Given the description of an element on the screen output the (x, y) to click on. 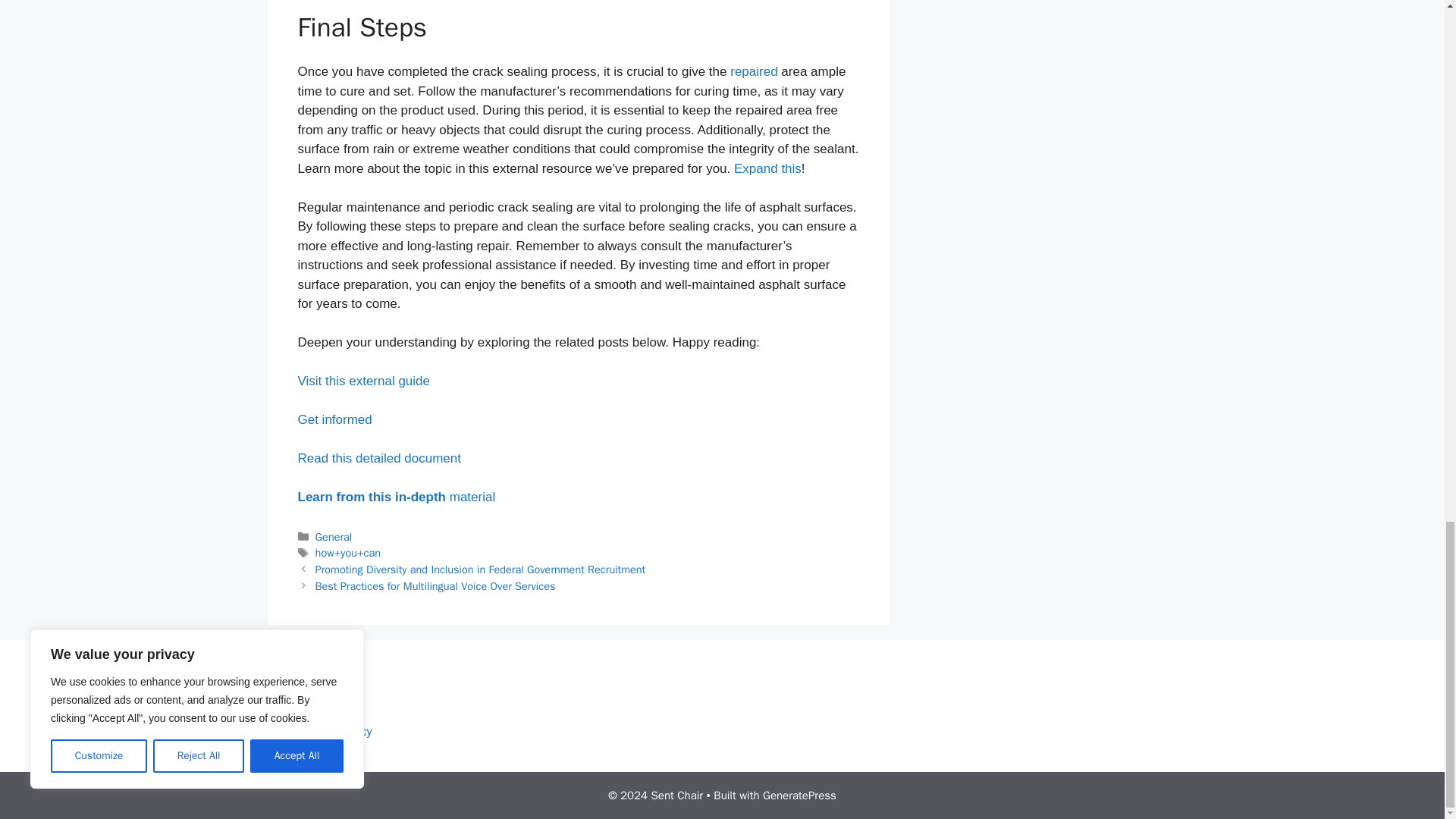
Read this detailed document (378, 458)
General (333, 536)
Visit this external guide (363, 380)
Best Practices for Multilingual Voice Over Services (435, 585)
Expand this (767, 168)
Learn from this in-depth material (396, 496)
Get informed (334, 419)
repaired (753, 71)
